Given the description of an element on the screen output the (x, y) to click on. 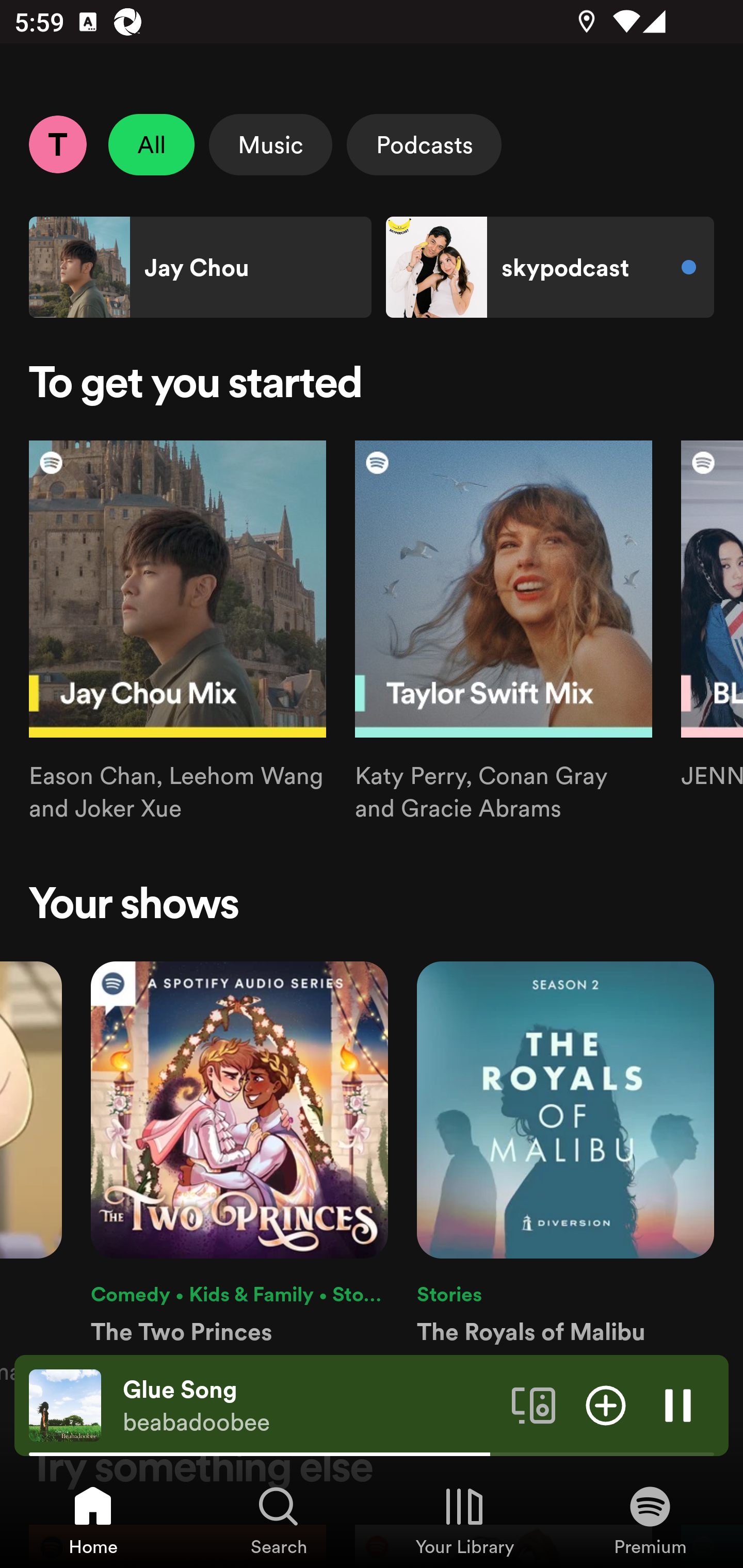
Profile (57, 144)
All Unselect All (151, 144)
Music Select Music (270, 144)
Podcasts Select Podcasts (423, 144)
Jay Chou Shortcut Jay Chou (199, 267)
skypodcast Shortcut skypodcast New content (549, 267)
Stories The Royals of Malibu Show • Diversion (565, 1174)
Glue Song beabadoobee (309, 1405)
The cover art of the currently playing track (64, 1404)
Connect to a device. Opens the devices menu (533, 1404)
Add item (605, 1404)
Pause (677, 1404)
Home, Tab 1 of 4 Home Home (92, 1519)
Search, Tab 2 of 4 Search Search (278, 1519)
Your Library, Tab 3 of 4 Your Library Your Library (464, 1519)
Premium, Tab 4 of 4 Premium Premium (650, 1519)
